Given the description of an element on the screen output the (x, y) to click on. 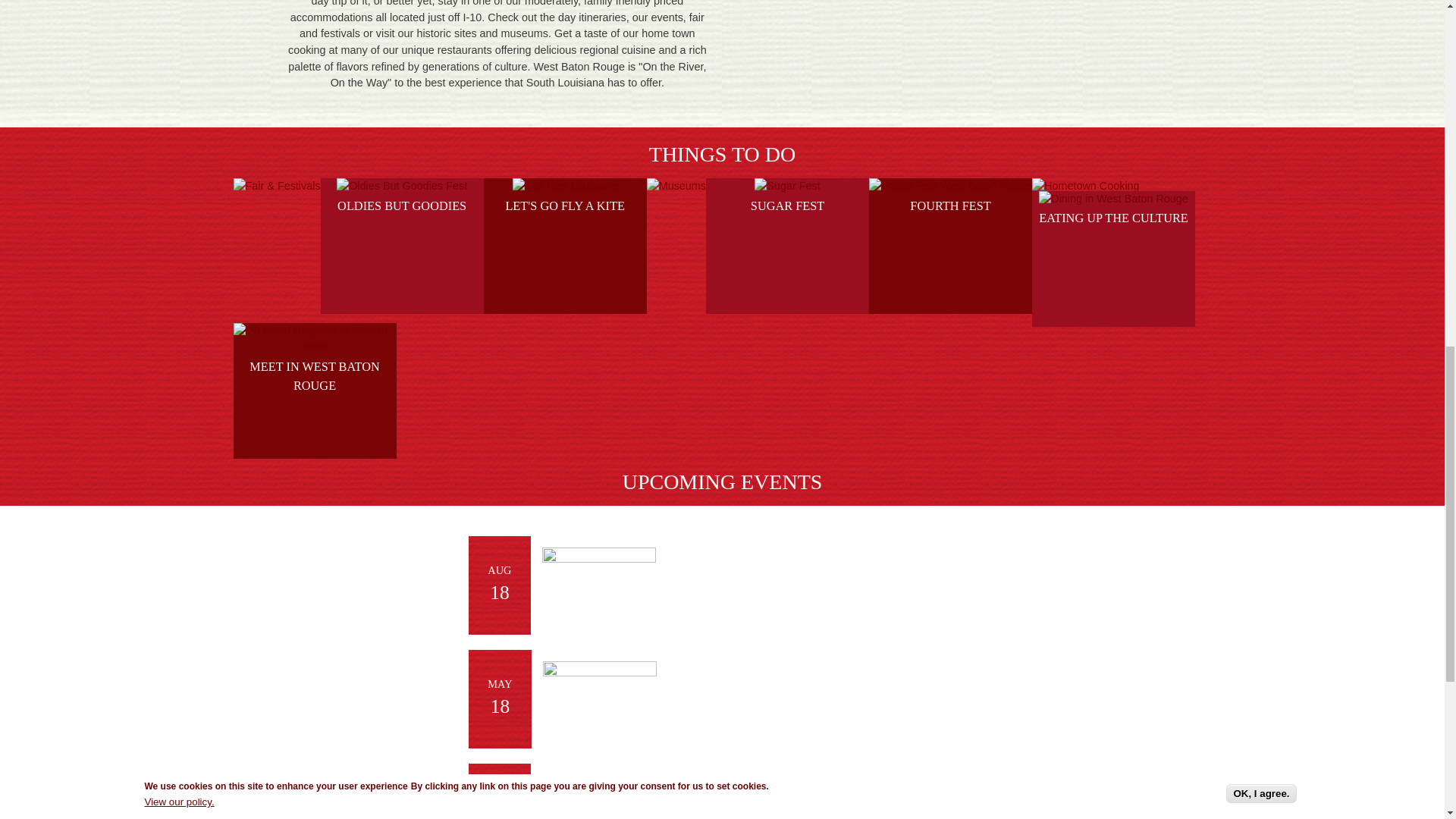
Fourth Fest West Baton Rouge (949, 186)
Museums (676, 186)
Hometown Cooking  (1086, 186)
Kite Fest Louisiane (564, 186)
Sugar Fest (786, 186)
Oldies But Goodies Fest (401, 186)
